Given the description of an element on the screen output the (x, y) to click on. 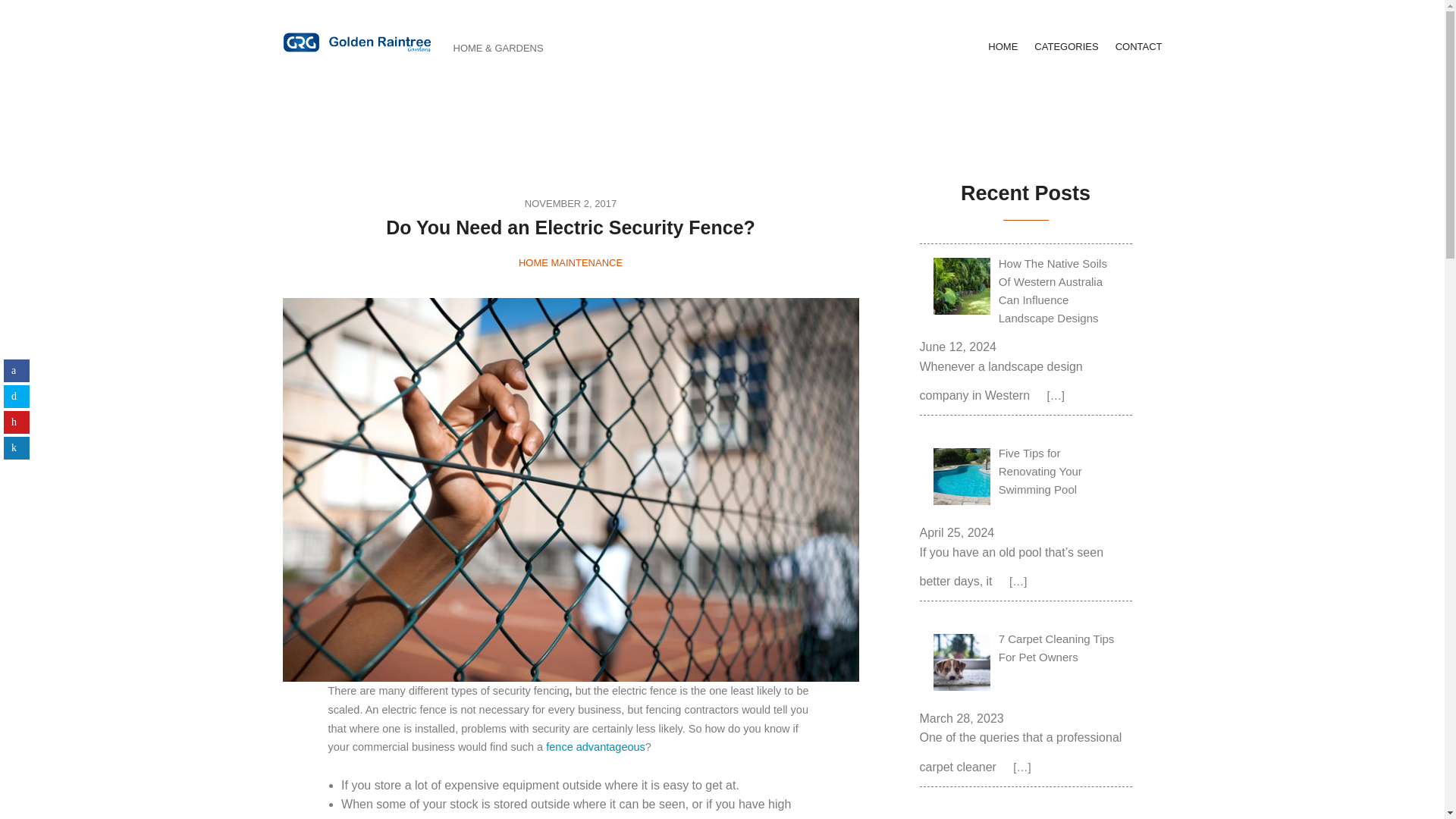
Five Tips for Renovating Your Swimming Pool (1026, 478)
Search (31, 18)
CONTACT (1138, 45)
HOME (1002, 45)
HOME MAINTENANCE (570, 262)
5 Things to Consider Before Installing a Swimming Pool (1026, 812)
CATEGORIES (1065, 45)
7 Carpet Cleaning Tips For Pet Owners (1026, 664)
fence advantageous (595, 746)
